Given the description of an element on the screen output the (x, y) to click on. 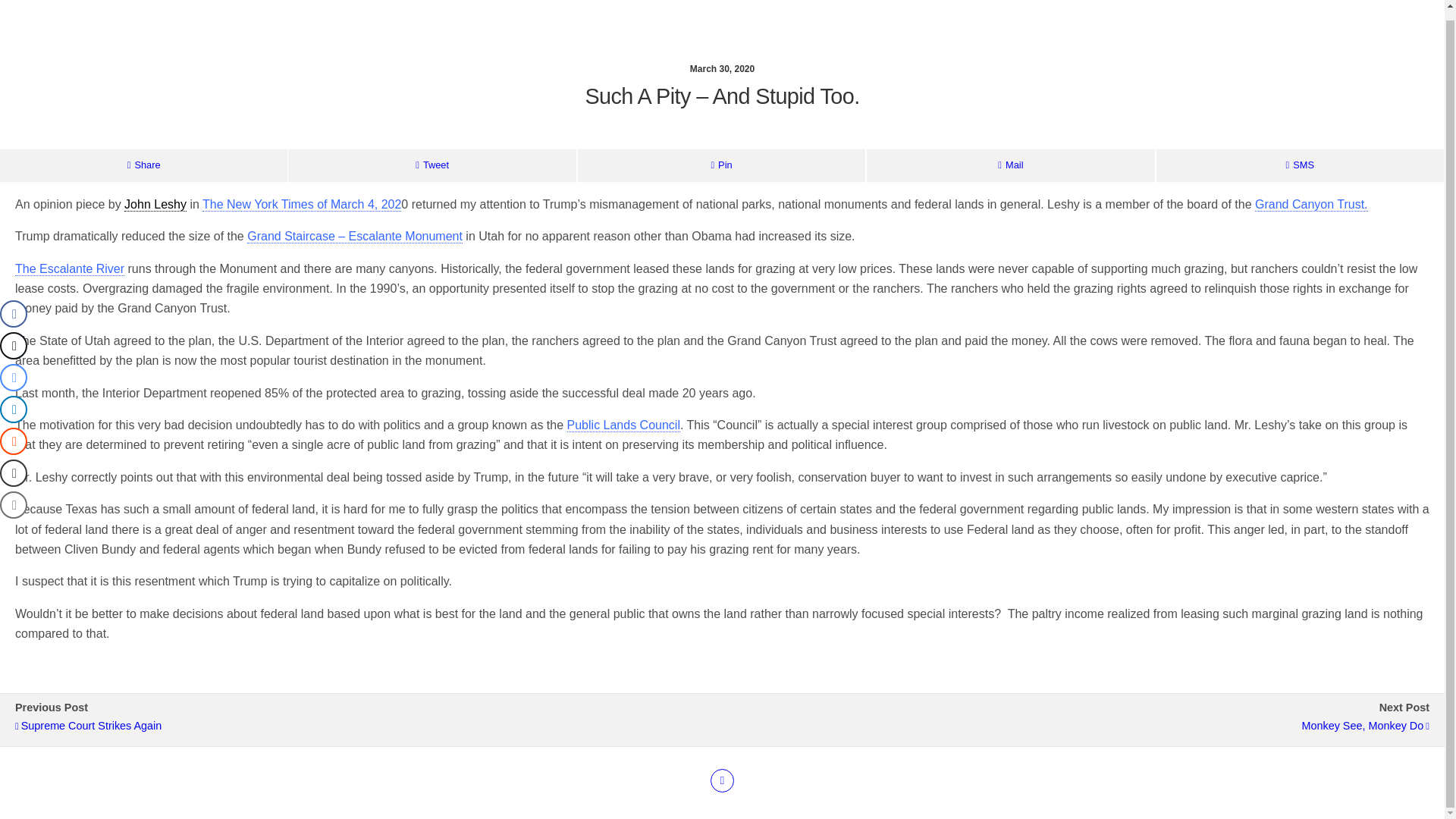
Monkey See, Monkey Do (1082, 725)
Twitter (721, 780)
Tweet (431, 164)
Mail (1010, 164)
Share (143, 164)
Supreme Court Strikes Again (360, 725)
Pin (721, 164)
Search (1230, 44)
John Leshy (154, 204)
Public Lands Council (623, 425)
